Given the description of an element on the screen output the (x, y) to click on. 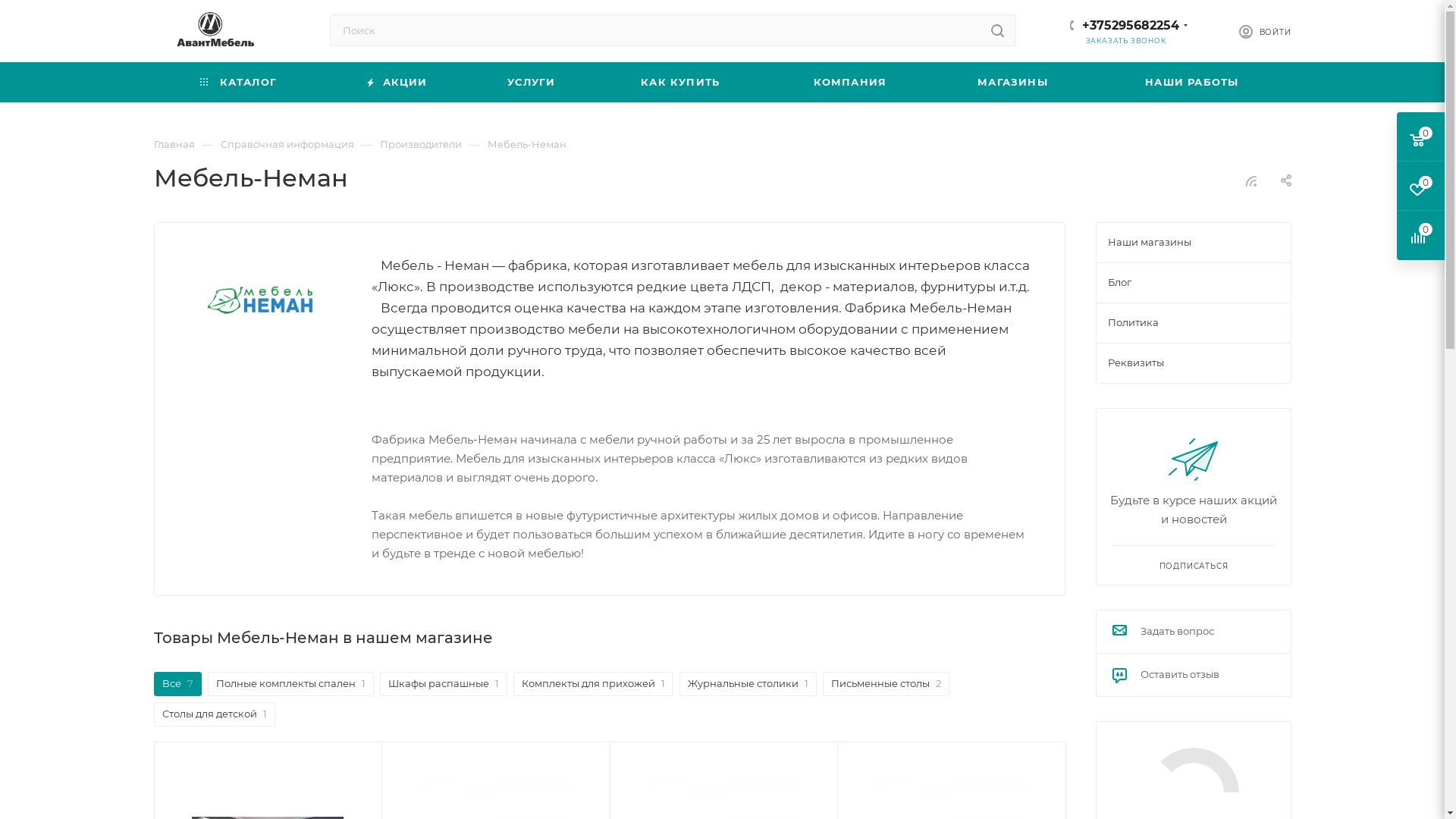
+375295682254 Element type: text (1129, 25)
AVANTMEBEL.BY Element type: hover (210, 31)
RSS Element type: hover (1250, 180)
